Given the description of an element on the screen output the (x, y) to click on. 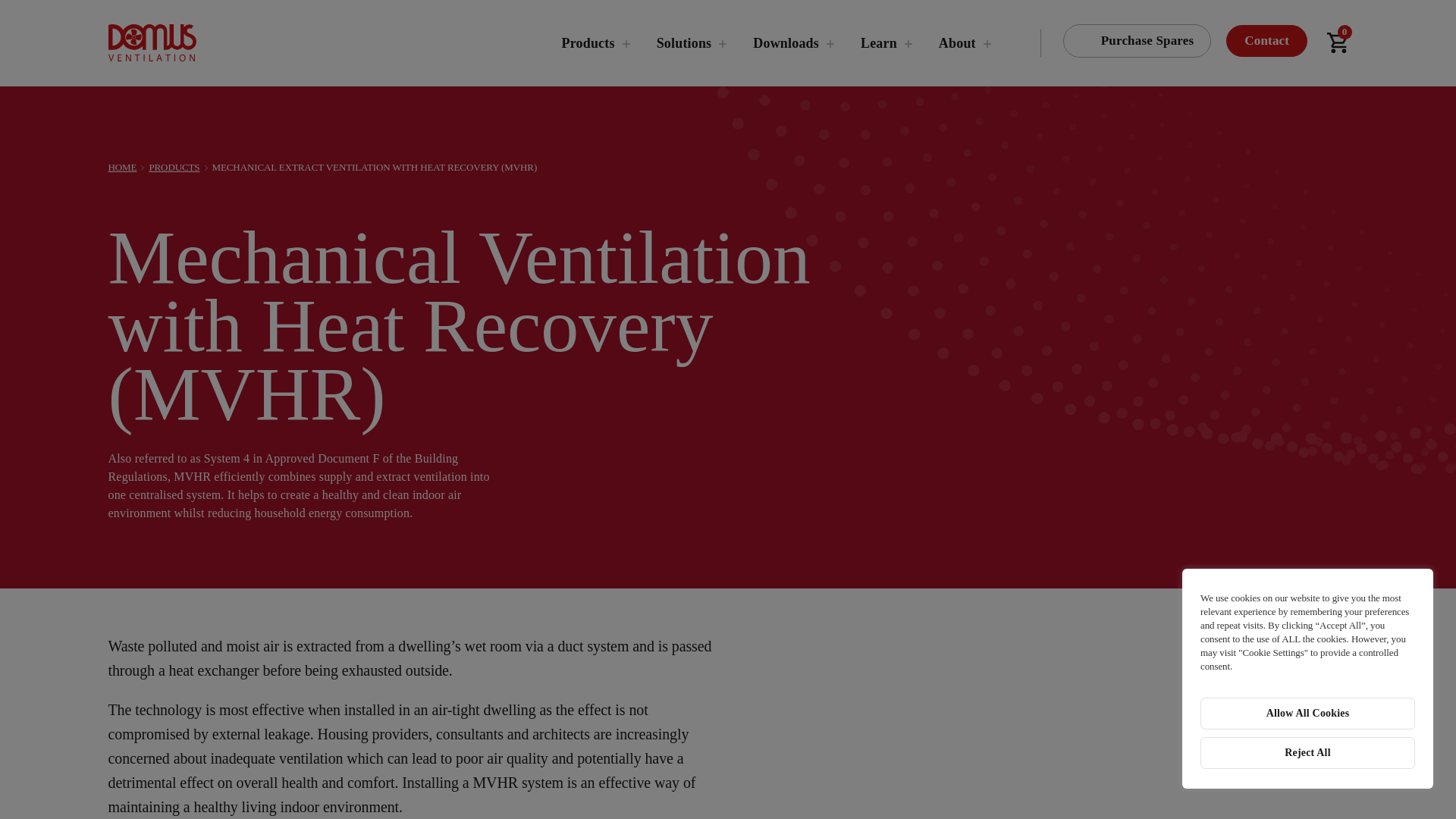
Products (588, 43)
Products (588, 43)
Contact (1266, 40)
